Given the description of an element on the screen output the (x, y) to click on. 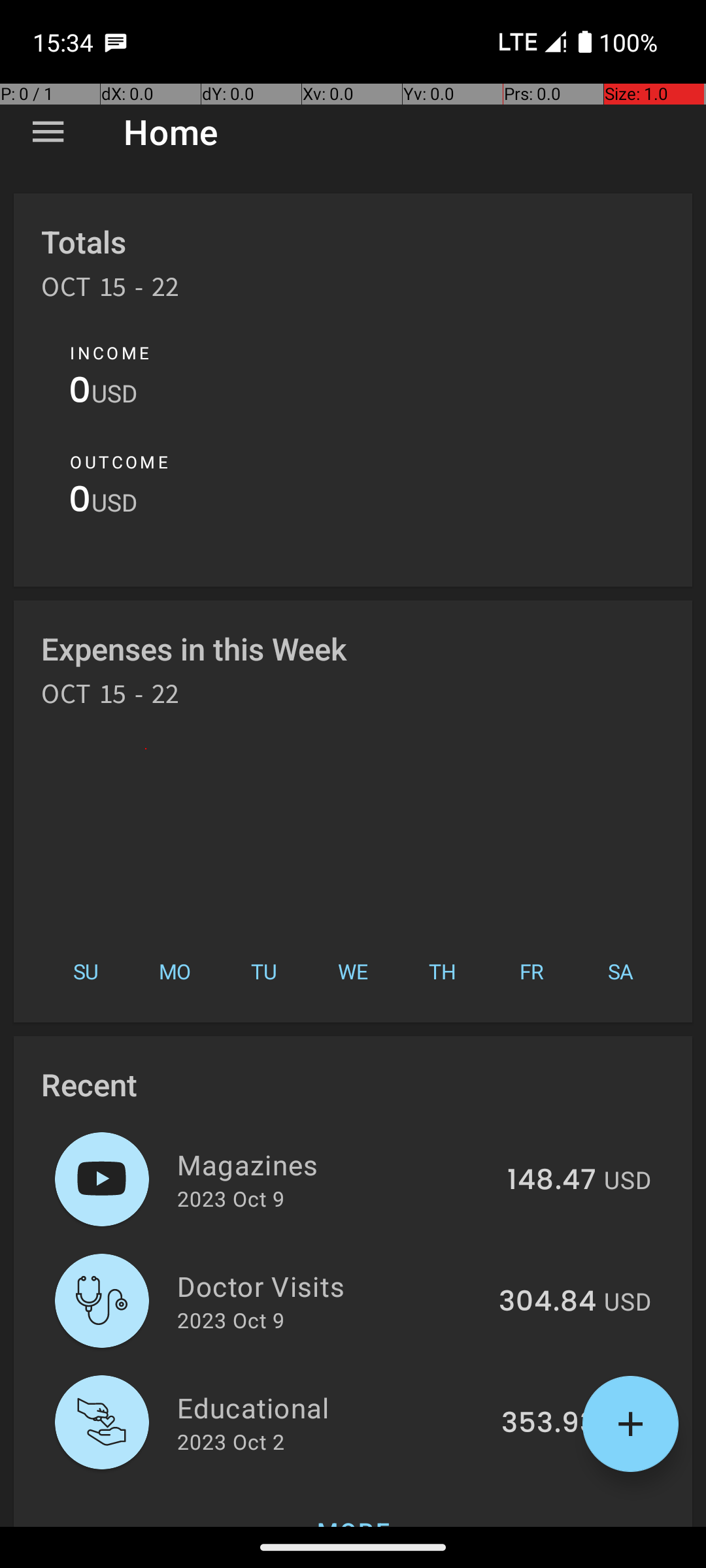
Magazines Element type: android.widget.TextView (334, 1164)
148.47 Element type: android.widget.TextView (551, 1180)
304.84 Element type: android.widget.TextView (547, 1301)
Educational Element type: android.widget.TextView (331, 1407)
2023 Oct 2 Element type: android.widget.TextView (230, 1441)
353.93 Element type: android.widget.TextView (548, 1423)
